Given the description of an element on the screen output the (x, y) to click on. 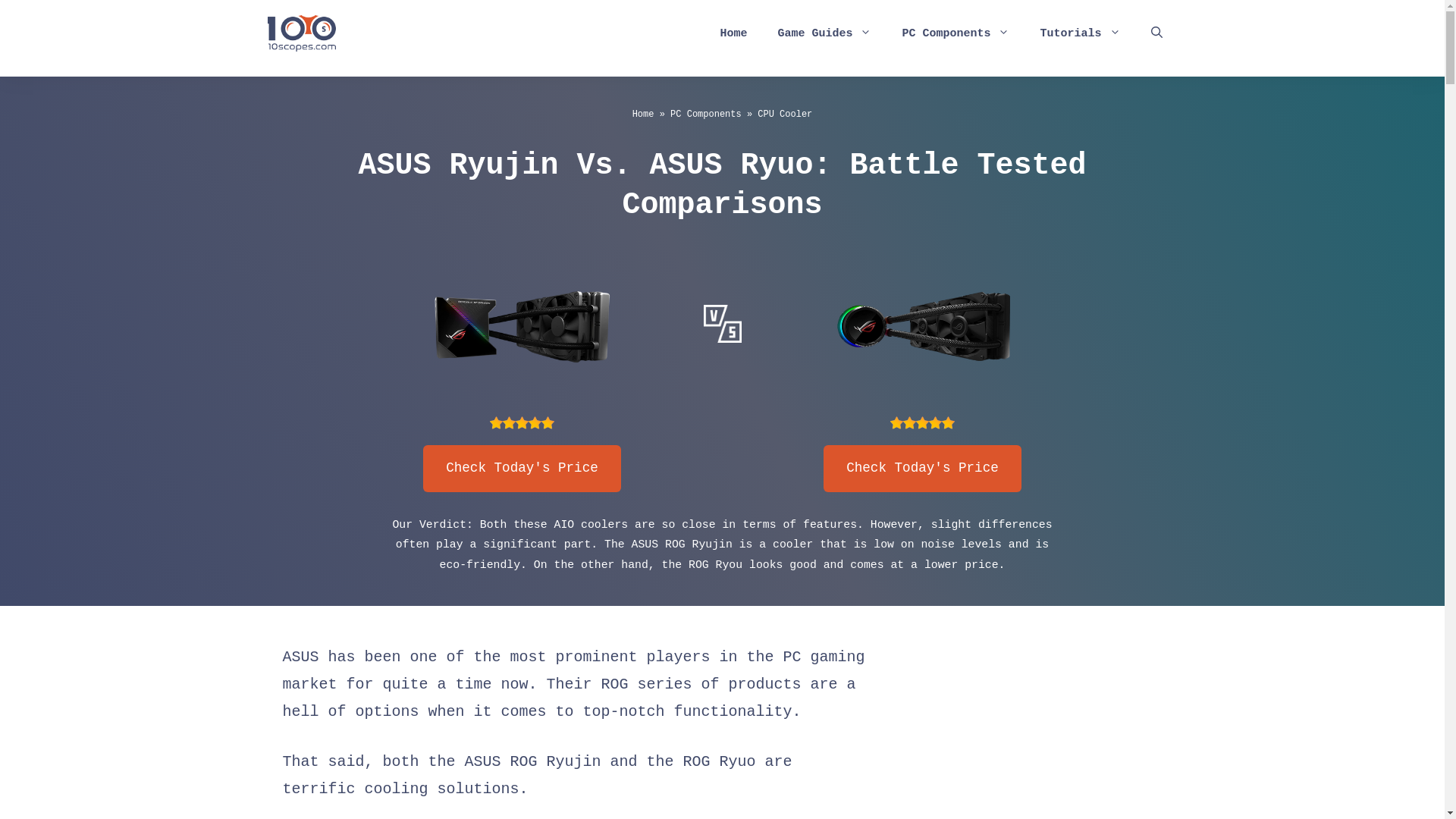
CPU Cooler Element type: text (784, 114)
PC Components Element type: text (705, 114)
Check Today's Price Element type: text (522, 468)
PC Components Element type: text (955, 33)
Home Element type: text (643, 114)
Home Element type: text (733, 33)
Check Today's Price Element type: text (922, 468)
Game Guides Element type: text (824, 33)
Tutorials Element type: text (1079, 33)
